Given the description of an element on the screen output the (x, y) to click on. 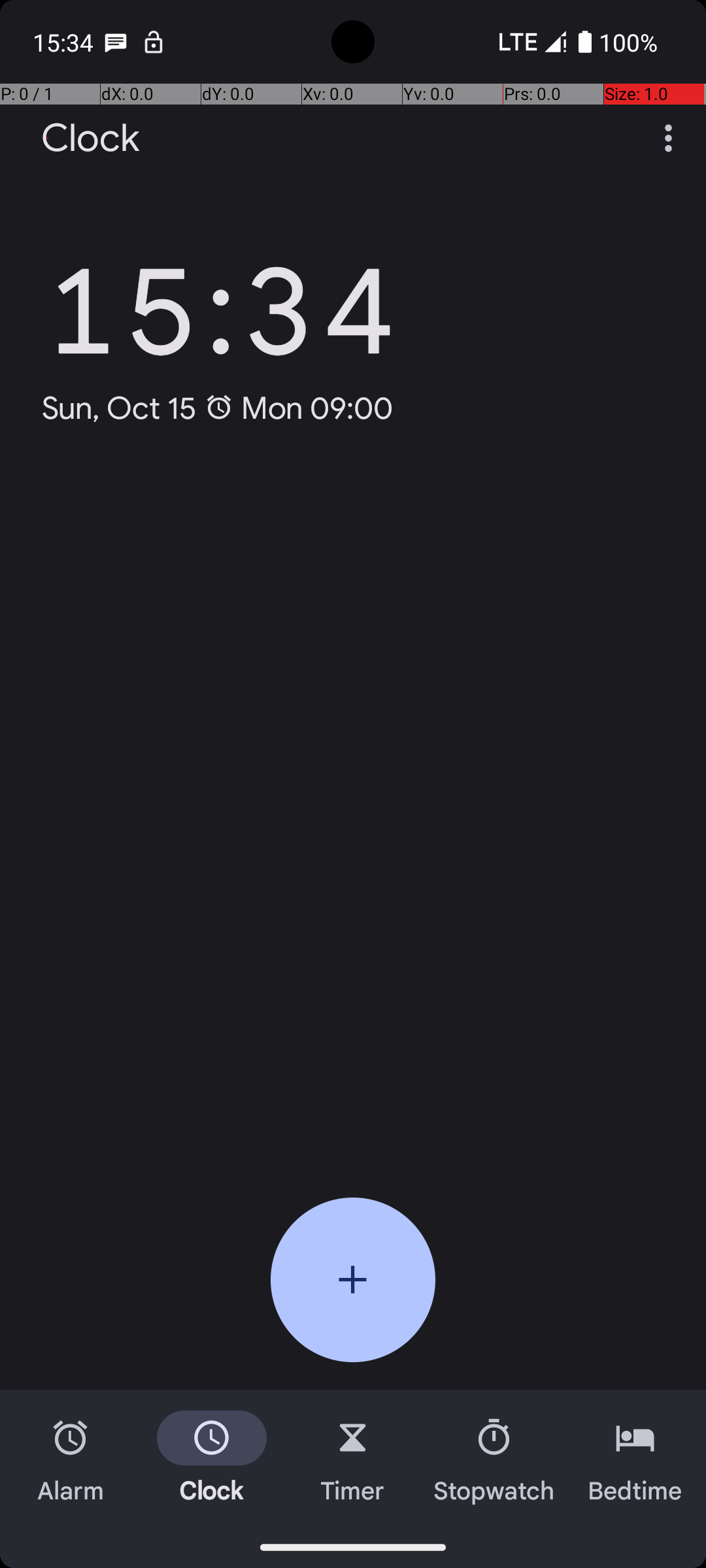
Sun, Oct 15 A Mon 09:00 Element type: android.widget.TextView (216, 407)
Tasks notification: Connection security Element type: android.widget.ImageView (153, 41)
